Given the description of an element on the screen output the (x, y) to click on. 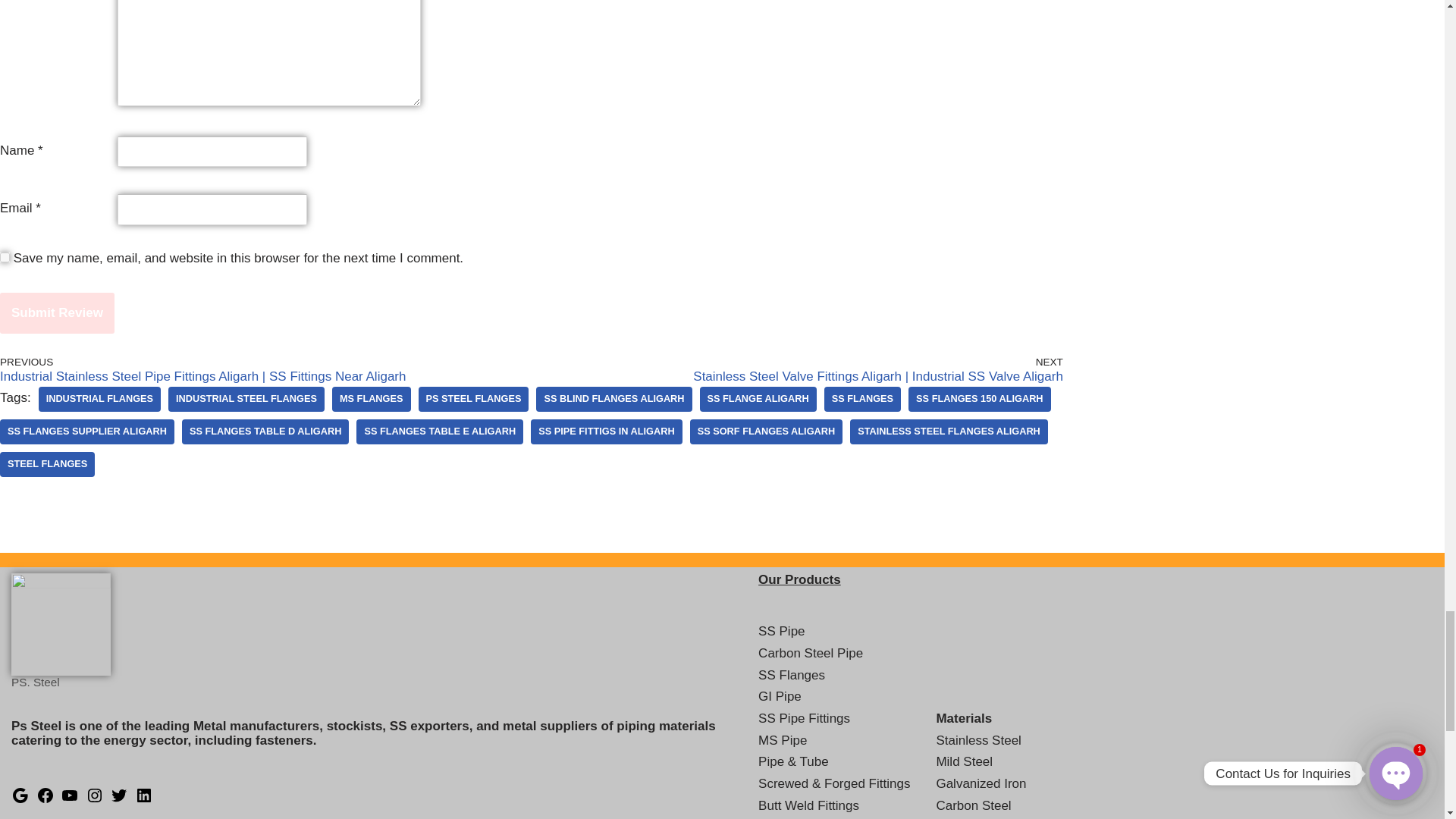
SS Flanges (862, 398)
SS Pipe Fittigs in Aligarh (606, 431)
SS Flanges Table E Aligarh (439, 431)
Steel Flanges (47, 464)
SS SORF Flanges Aligarh (766, 431)
SS Blind Flanges Aligarh (613, 398)
yes (5, 257)
SS Flanges Supplier Aligarh (87, 431)
SS Flanges 150 Aligarh (978, 398)
Stainless Steel Flanges Aligarh (949, 431)
MS Flanges (370, 398)
Industrial Flanges (99, 398)
Submit Review (57, 312)
PS Steel Flanges (474, 398)
Industrial Steel Flanges (246, 398)
